Given the description of an element on the screen output the (x, y) to click on. 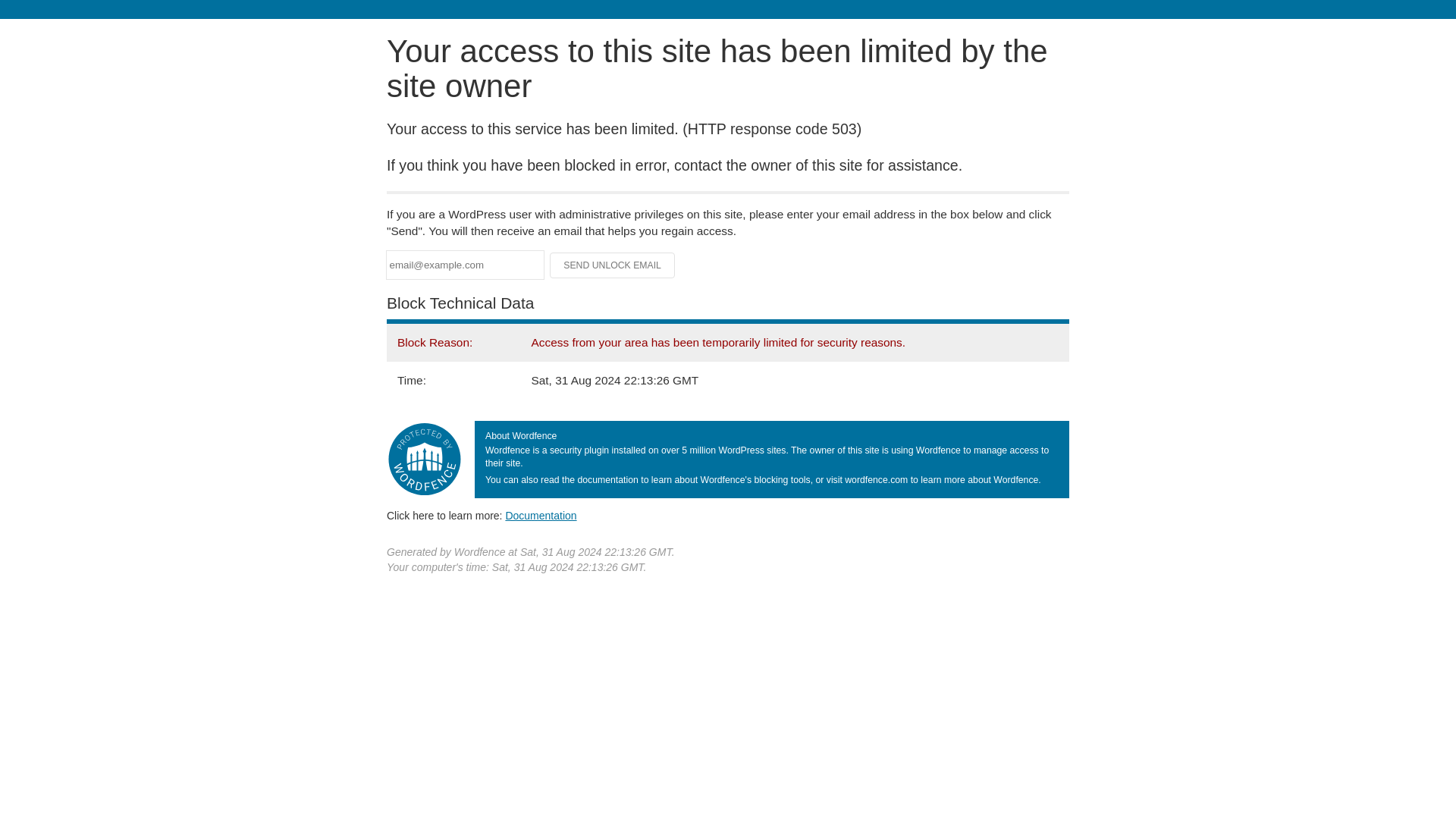
Send Unlock Email (612, 265)
Send Unlock Email (612, 265)
Documentation (540, 515)
